Given the description of an element on the screen output the (x, y) to click on. 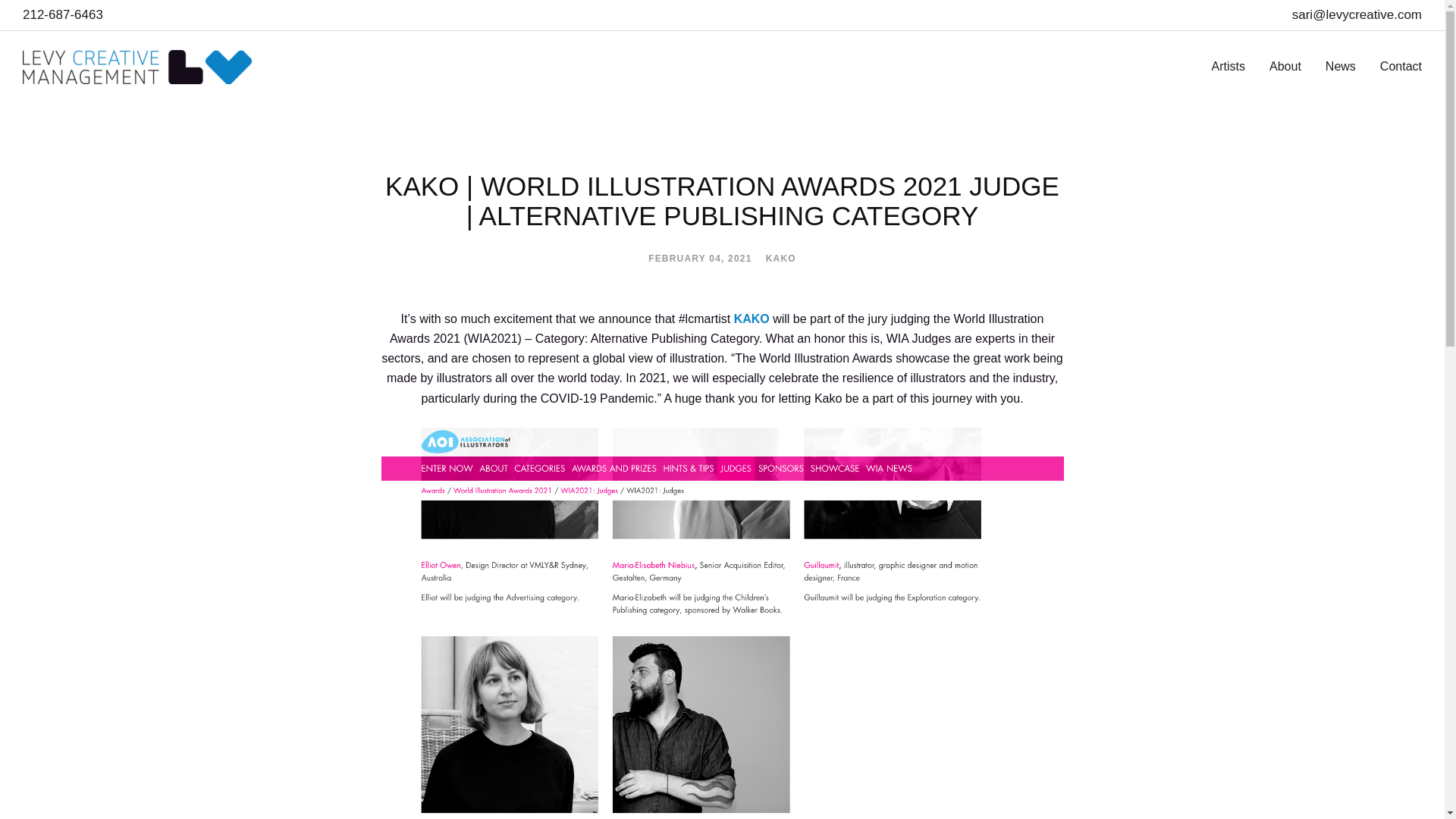
Artists (1227, 65)
212-687-6463 (63, 14)
About (1285, 65)
News (1339, 65)
Contact (1401, 65)
KAKO (753, 318)
